Given the description of an element on the screen output the (x, y) to click on. 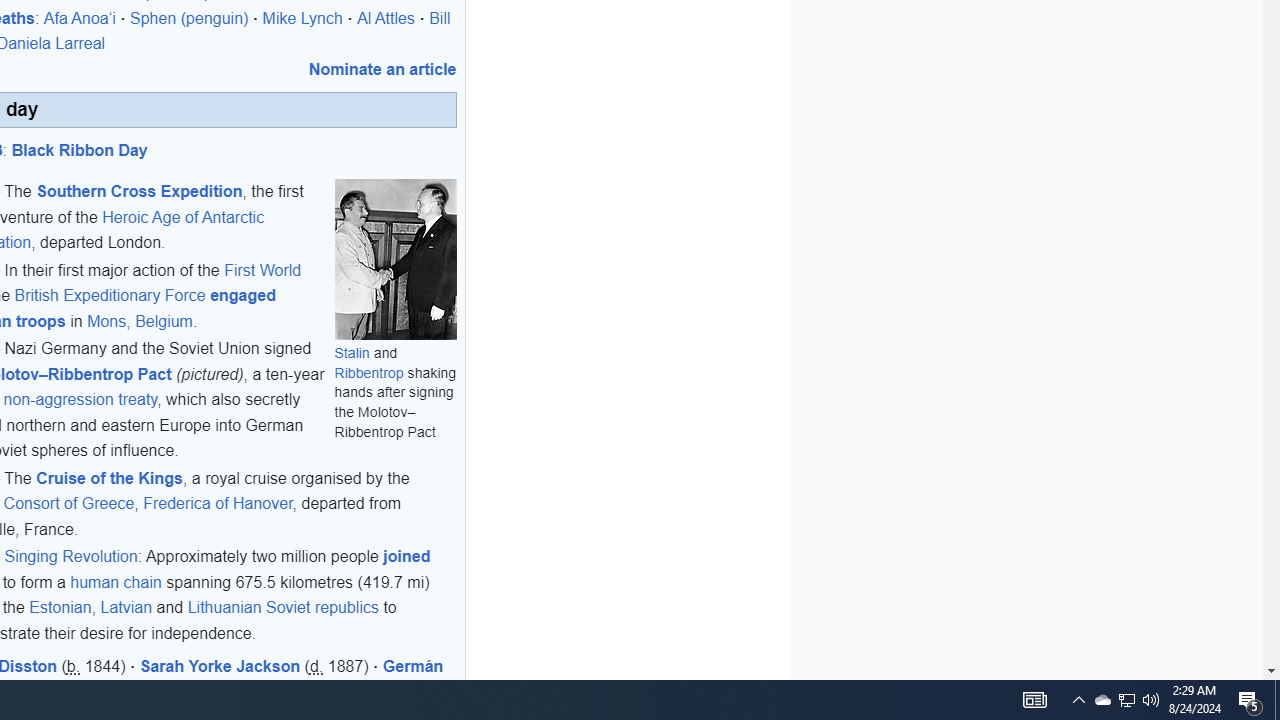
Southern Cross Expedition (139, 191)
Sarah Yorke Jackson (219, 667)
Lithuanian Soviet republics (282, 608)
human chain (116, 582)
British Expeditionary Force (110, 296)
Estonian (60, 608)
